Given the description of an element on the screen output the (x, y) to click on. 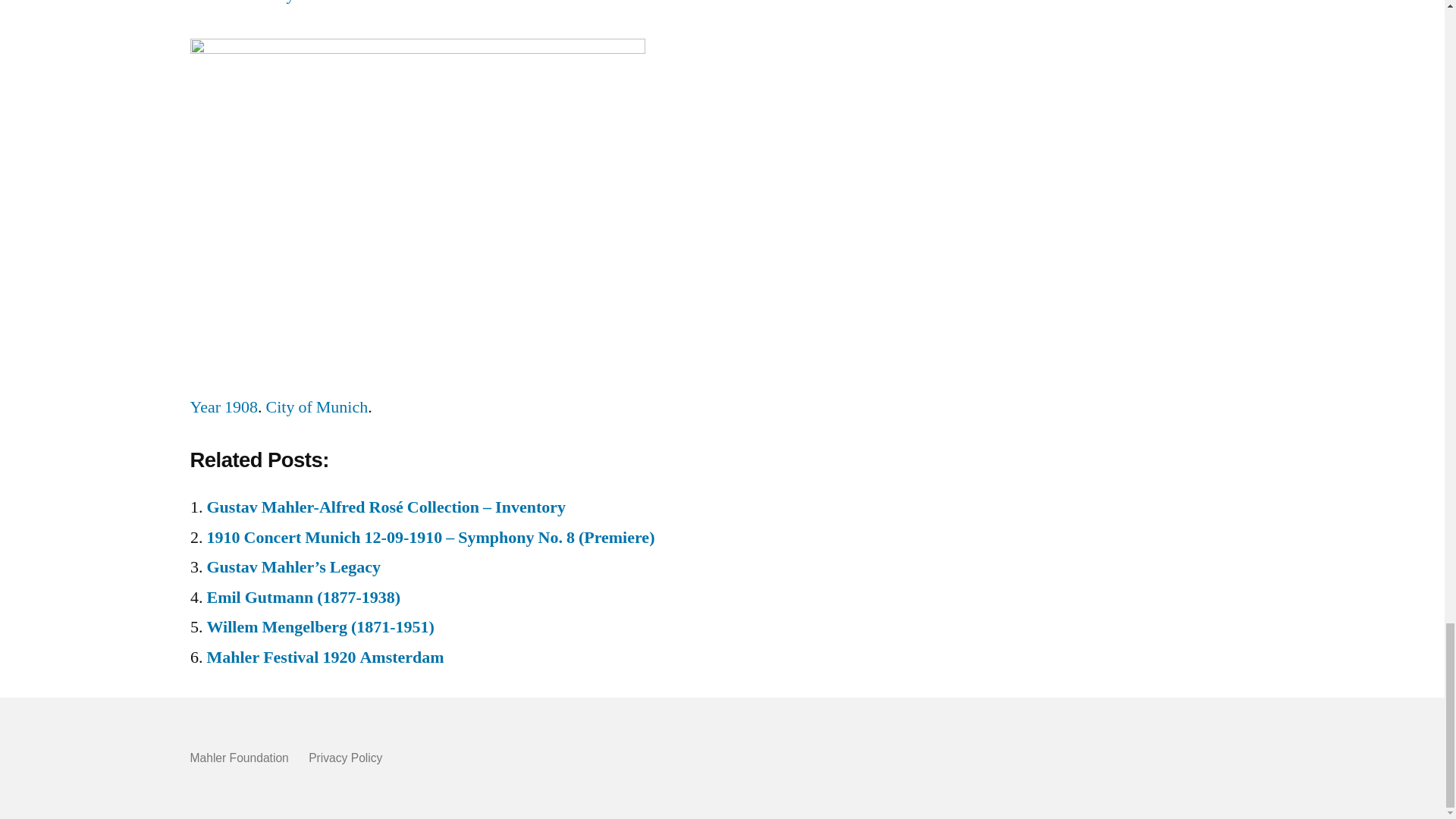
Mahler Festival 1920 Amsterdam (325, 657)
